Given the description of an element on the screen output the (x, y) to click on. 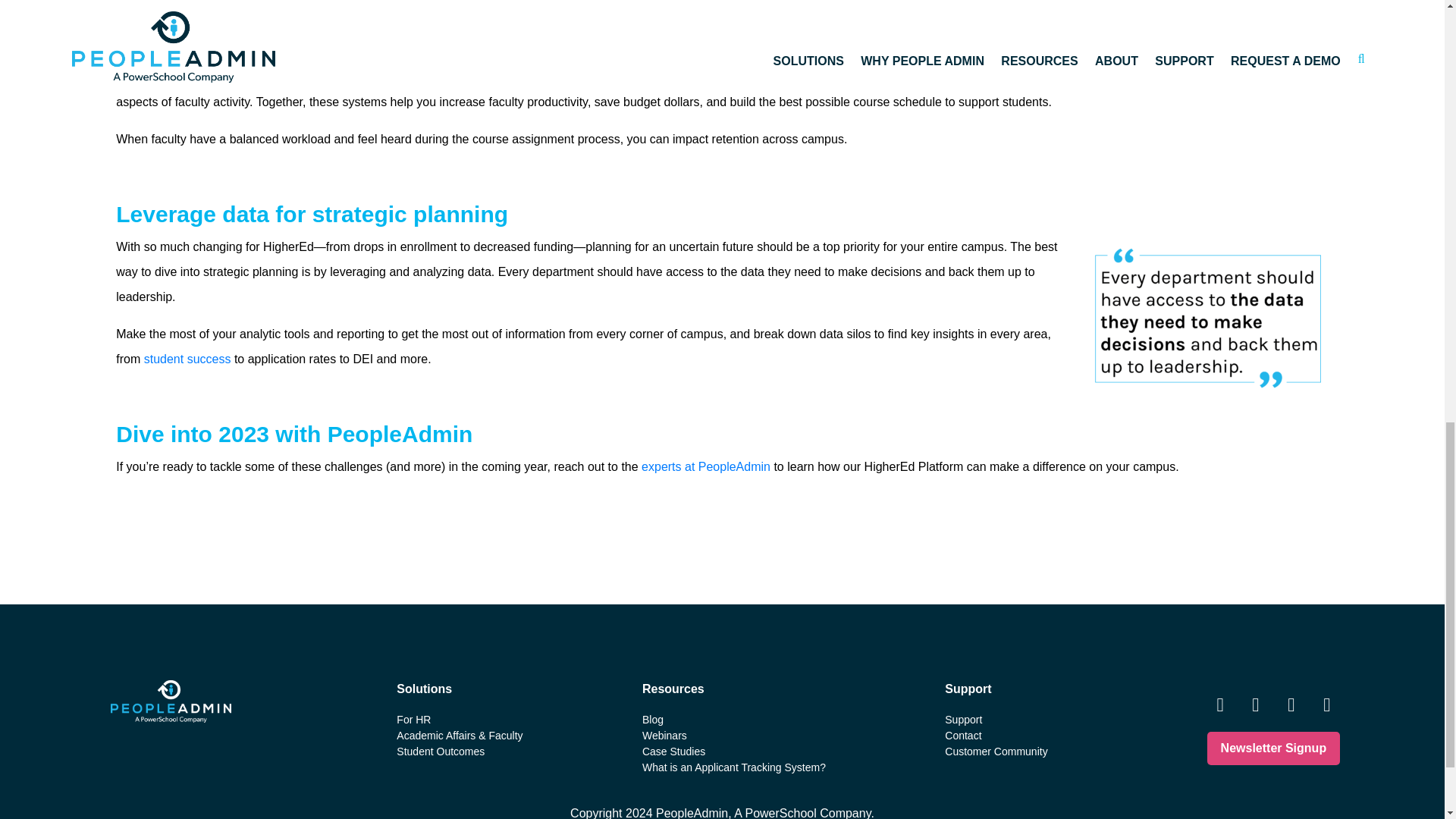
faculty workload encompasses (1080, 14)
Teaching Assignment Management System (694, 76)
Faculty Information System (911, 76)
student success (187, 358)
